Given the description of an element on the screen output the (x, y) to click on. 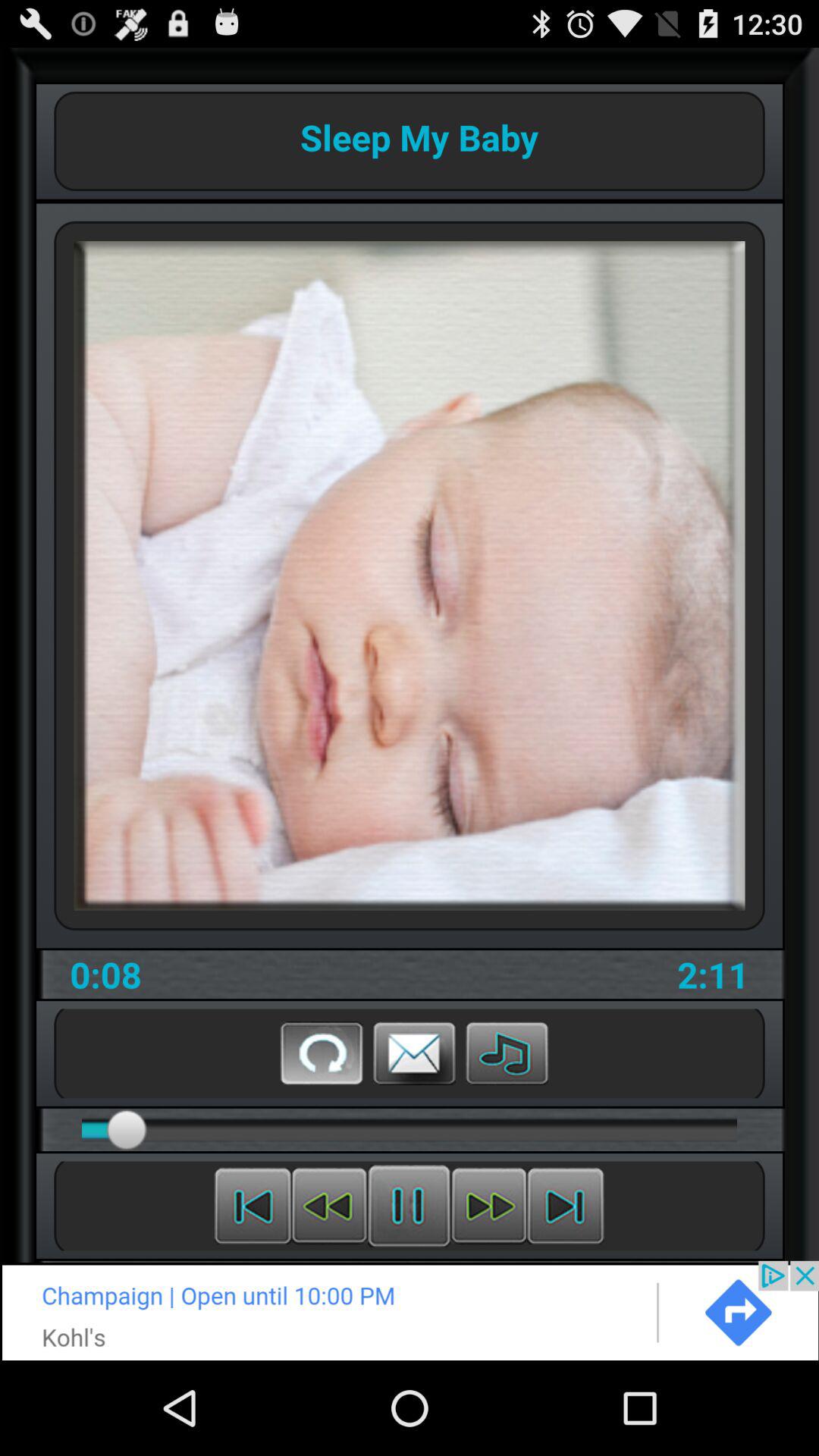
skip (488, 1205)
